Given the description of an element on the screen output the (x, y) to click on. 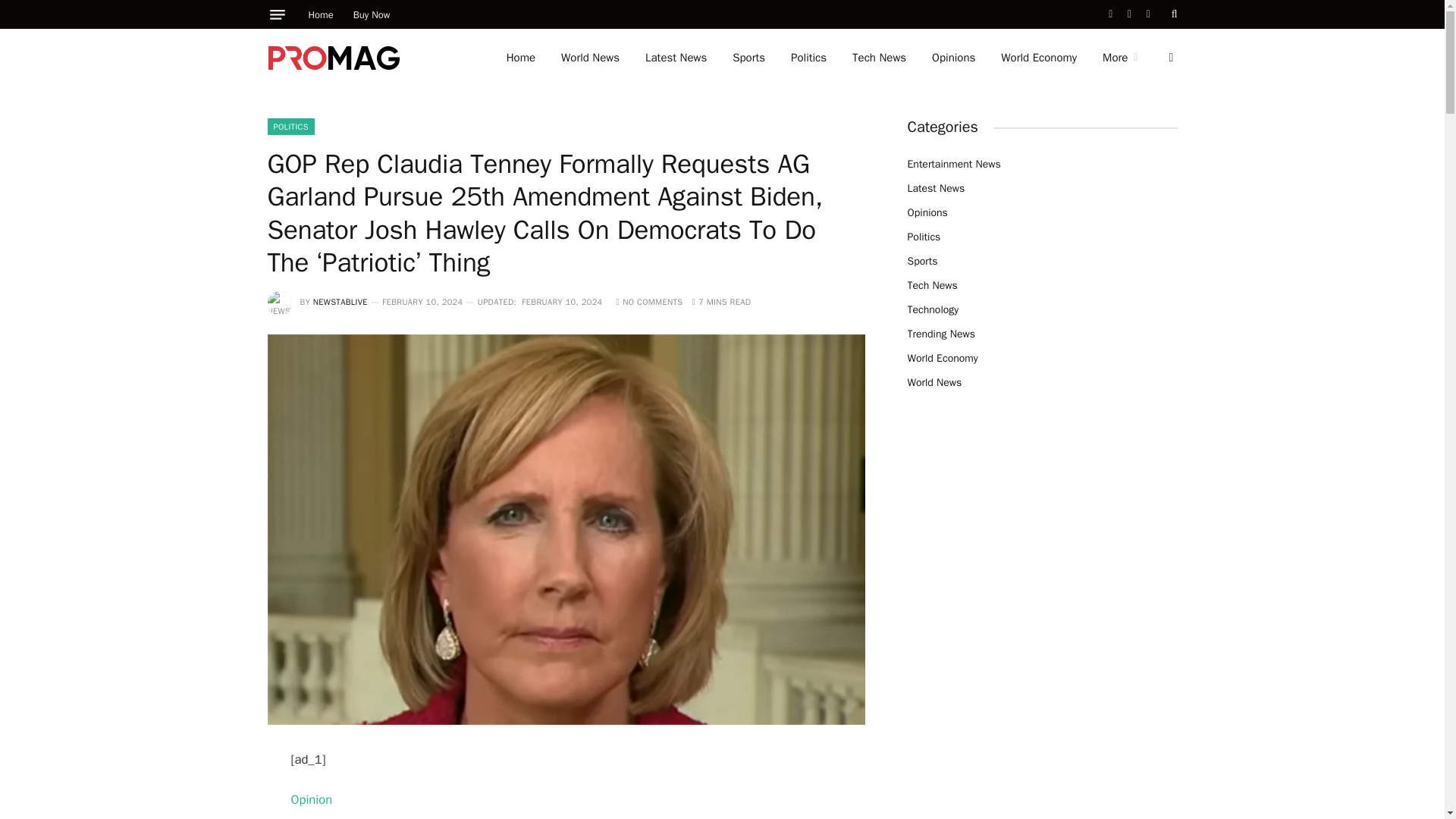
NEWSTABLIVE (340, 301)
NO COMMENTS (648, 301)
Switch to Dark Design - easier on eyes. (1168, 57)
More (1119, 57)
Tech News (879, 57)
Opinions (953, 57)
Politics (808, 57)
Posts by NewsTabLive (340, 301)
NewsTab (333, 56)
World Economy (1038, 57)
Buy Now (371, 14)
Home (320, 14)
World News (589, 57)
Opinion (312, 799)
Latest News (675, 57)
